Given the description of an element on the screen output the (x, y) to click on. 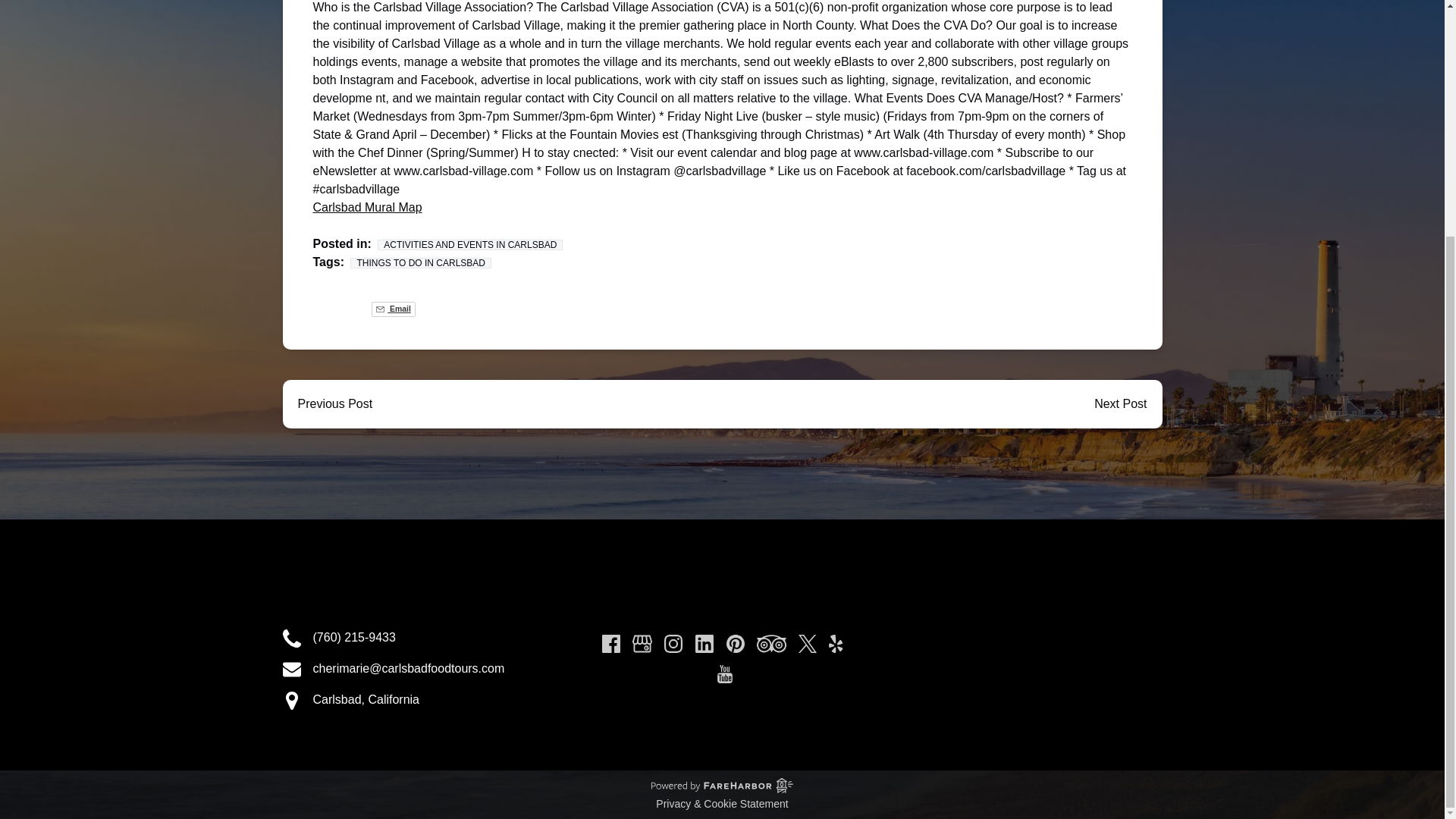
Phone (290, 638)
Carlsbad Mural Map (367, 206)
Envelope (290, 669)
Map Marker (290, 700)
